Given the description of an element on the screen output the (x, y) to click on. 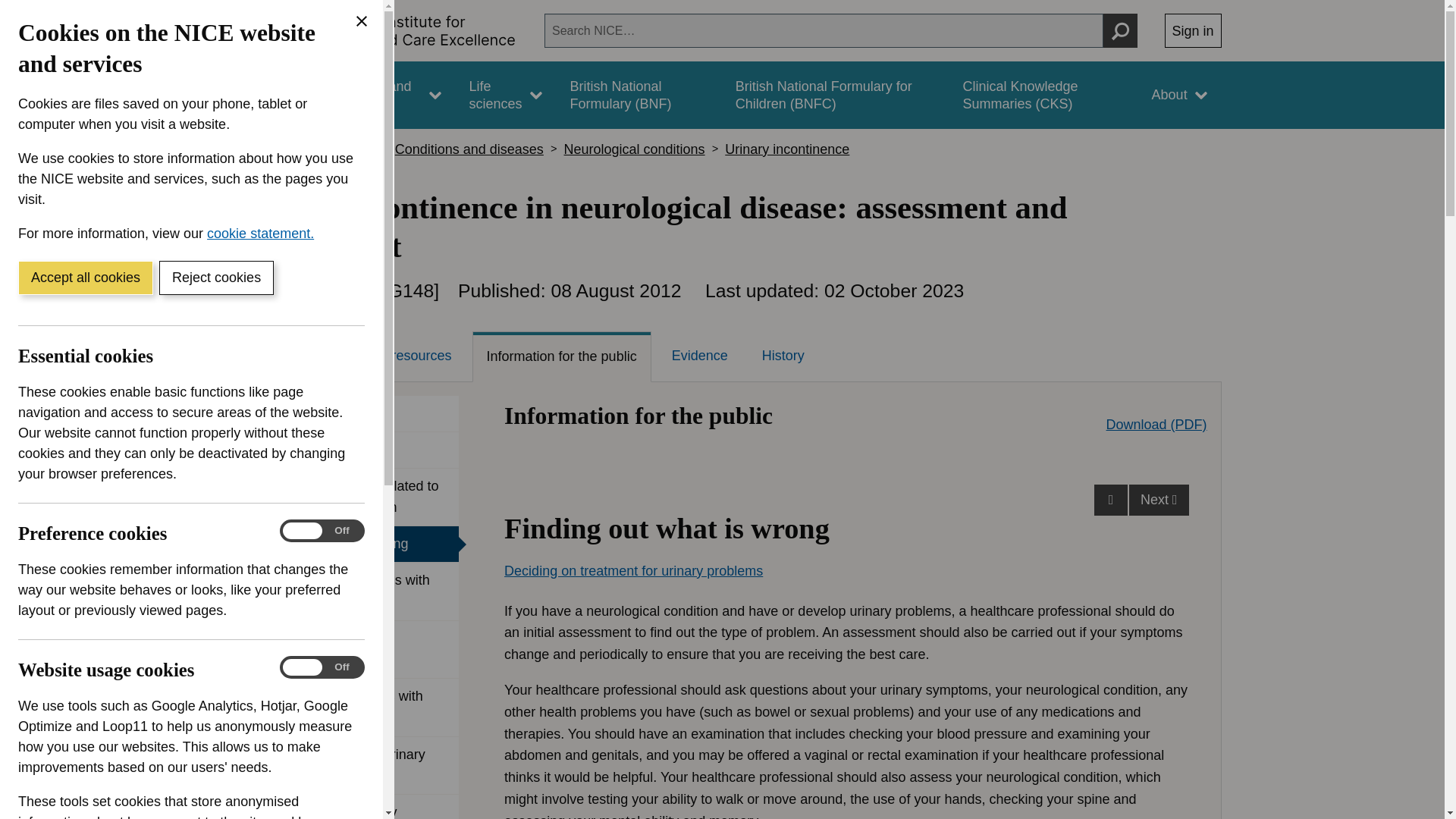
Reject cookies (215, 277)
Standards and indicators (381, 94)
Guidance (265, 94)
Life sciences (505, 94)
Accept all cookies (84, 277)
Sign in (1192, 30)
